Given the description of an element on the screen output the (x, y) to click on. 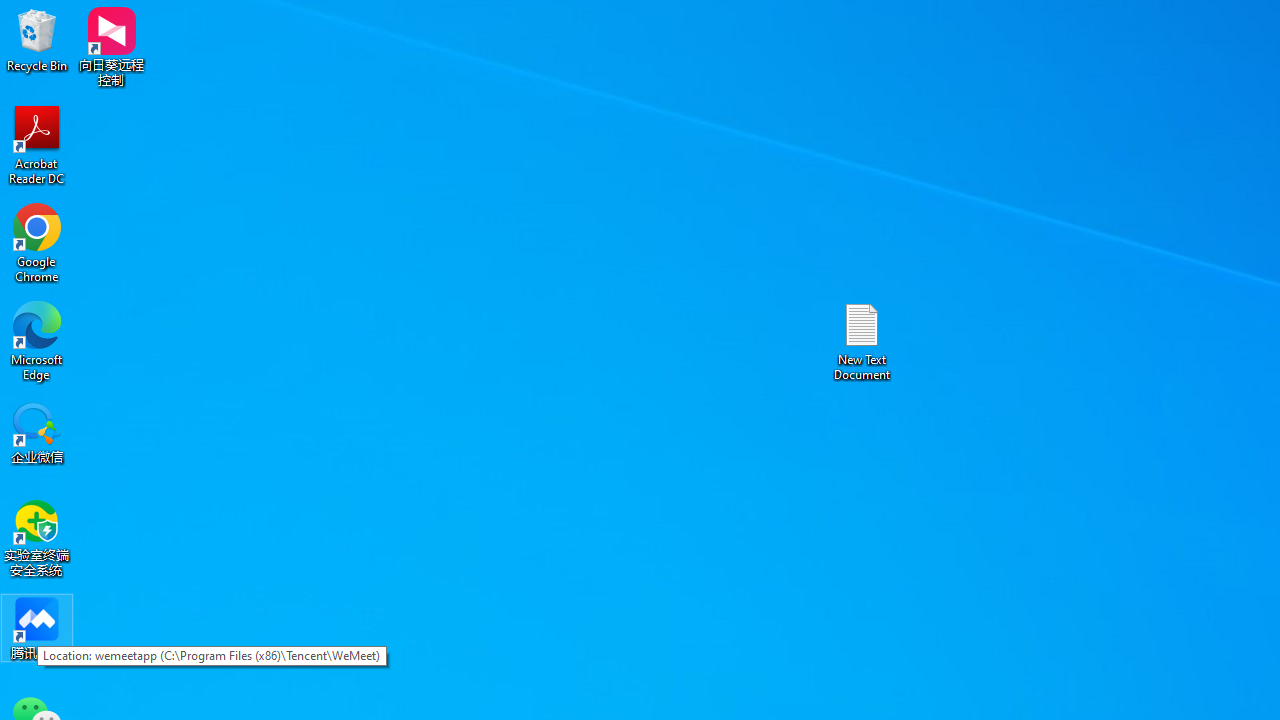
Recycle Bin (37, 39)
Microsoft Edge (37, 340)
Google Chrome (37, 242)
Acrobat Reader DC (37, 144)
New Text Document (861, 340)
